Given the description of an element on the screen output the (x, y) to click on. 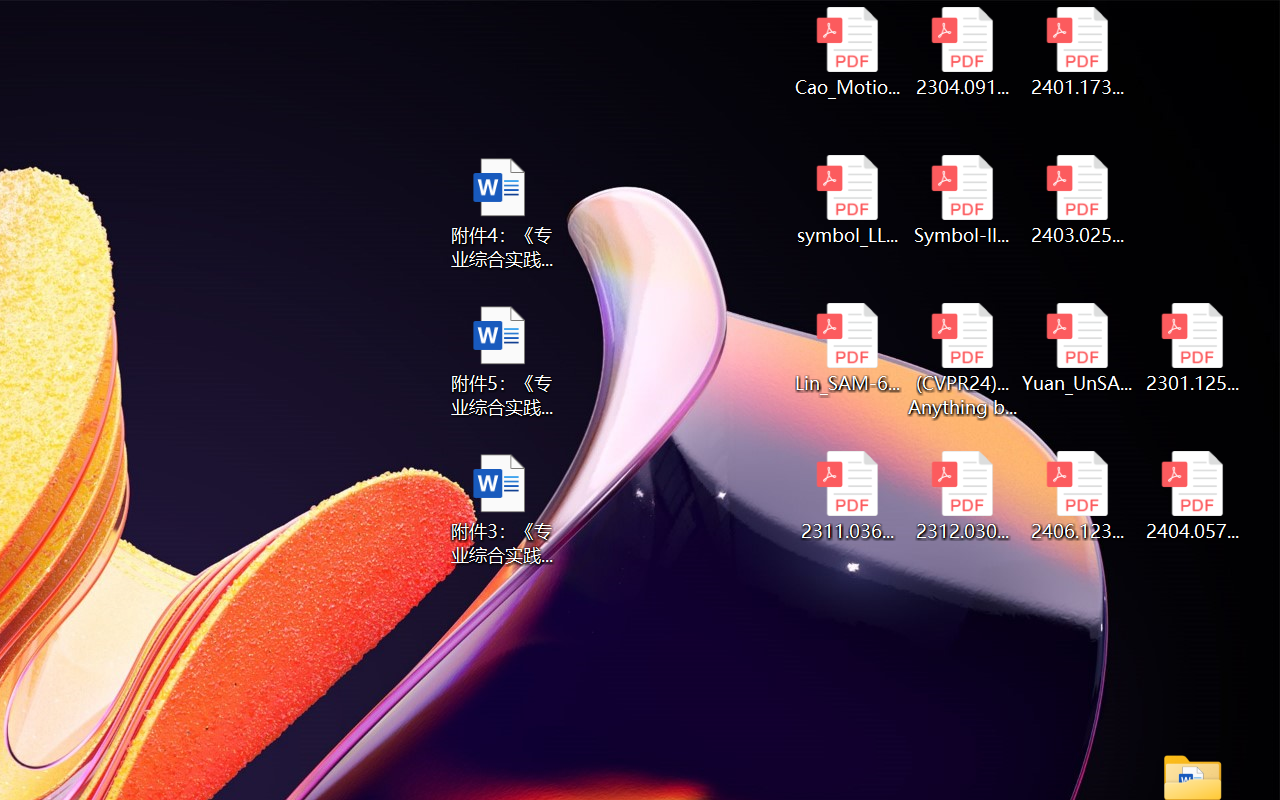
2403.02502v1.pdf (1077, 200)
symbol_LLM.pdf (846, 200)
